Given the description of an element on the screen output the (x, y) to click on. 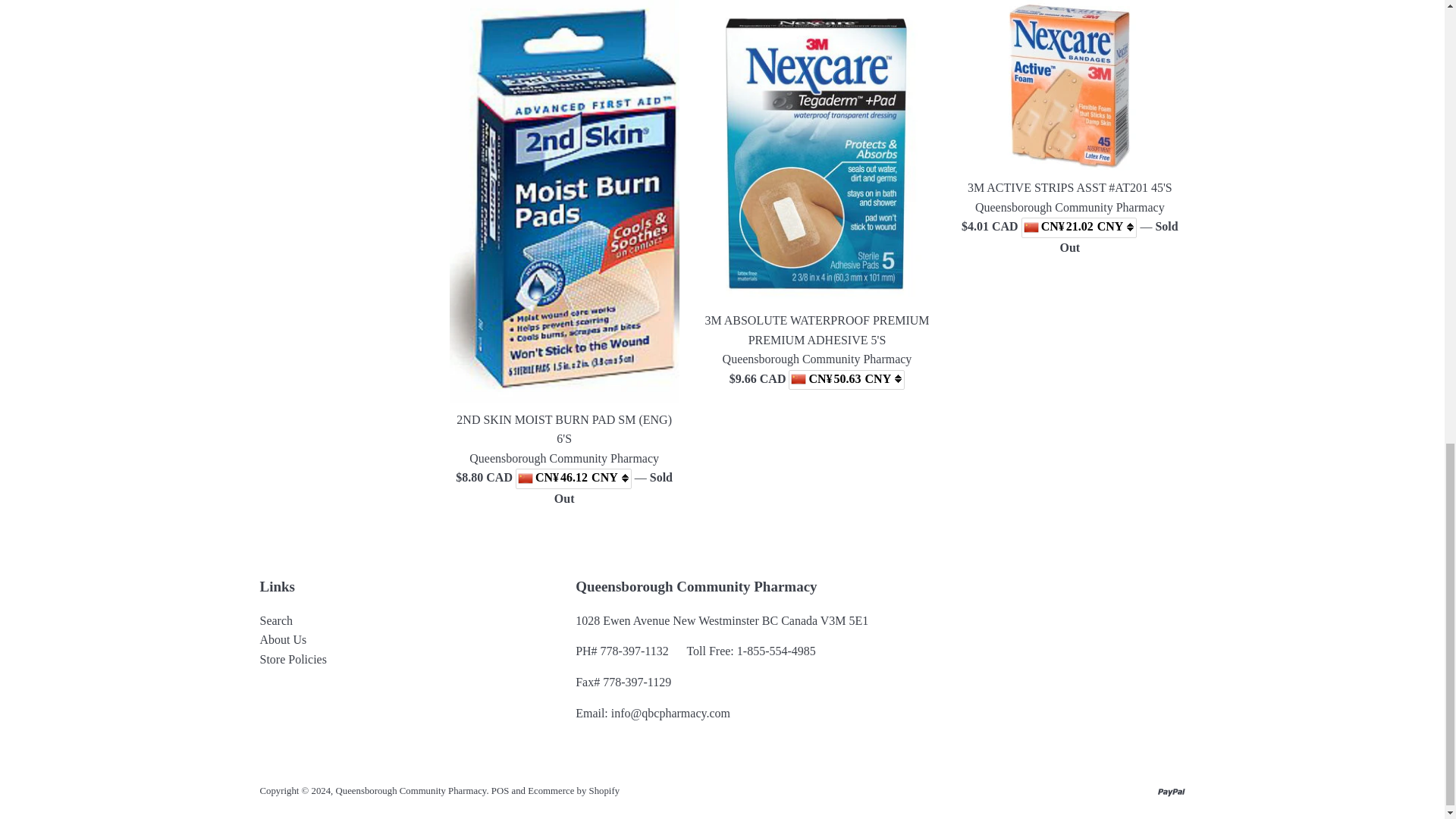
Store Policies (292, 658)
Queensborough Community Pharmacy (411, 790)
3M ABSOLUTE WATERPROOF PREMIUM PREMIUM ADHESIVE 5'S (816, 329)
About Us (282, 639)
Ecommerce by Shopify (573, 790)
Search (275, 620)
POS (500, 790)
